Given the description of an element on the screen output the (x, y) to click on. 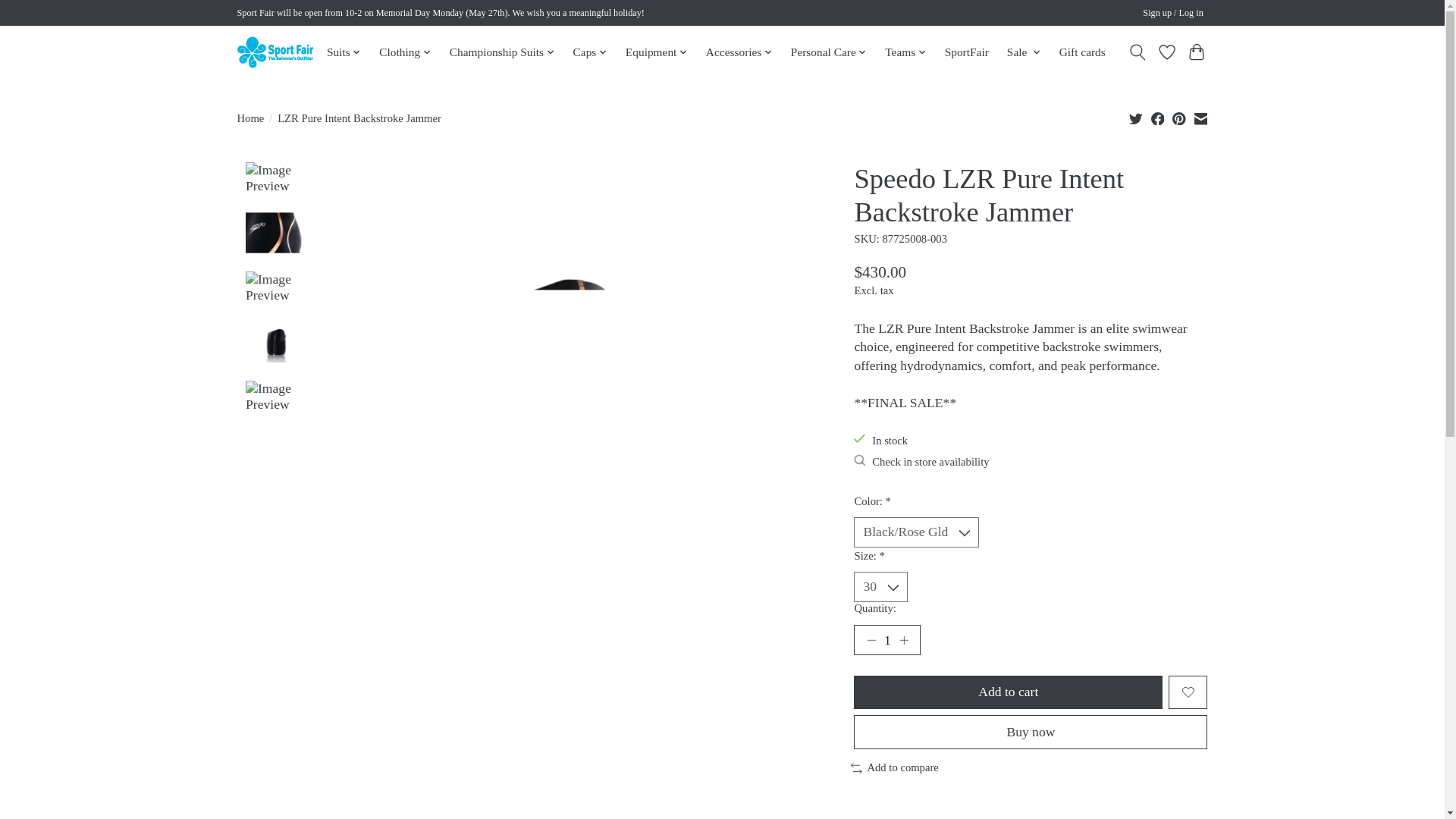
Suits (343, 52)
Equipment (656, 52)
Sportfairusa.com. Welcome All Competitive Swimmers. (274, 51)
Championship Suits (501, 52)
Share on Twitter (1135, 118)
Share by Email (1200, 118)
Share on Facebook (1157, 118)
Clothing (405, 52)
1 (886, 639)
My account (1173, 13)
Share on Pinterest (1178, 118)
Caps (589, 52)
